Given the description of an element on the screen output the (x, y) to click on. 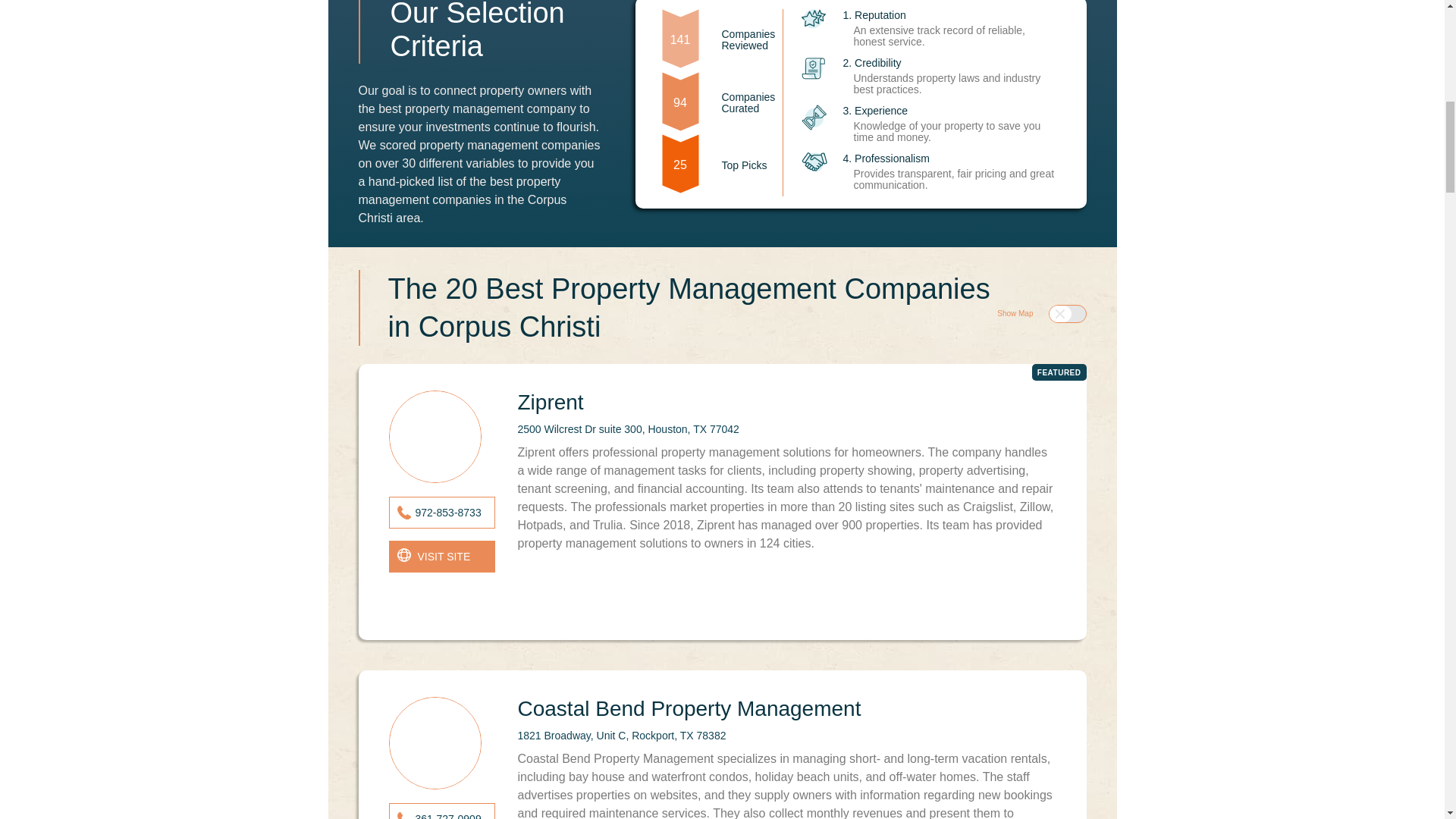
opens in a new window (441, 556)
